Given the description of an element on the screen output the (x, y) to click on. 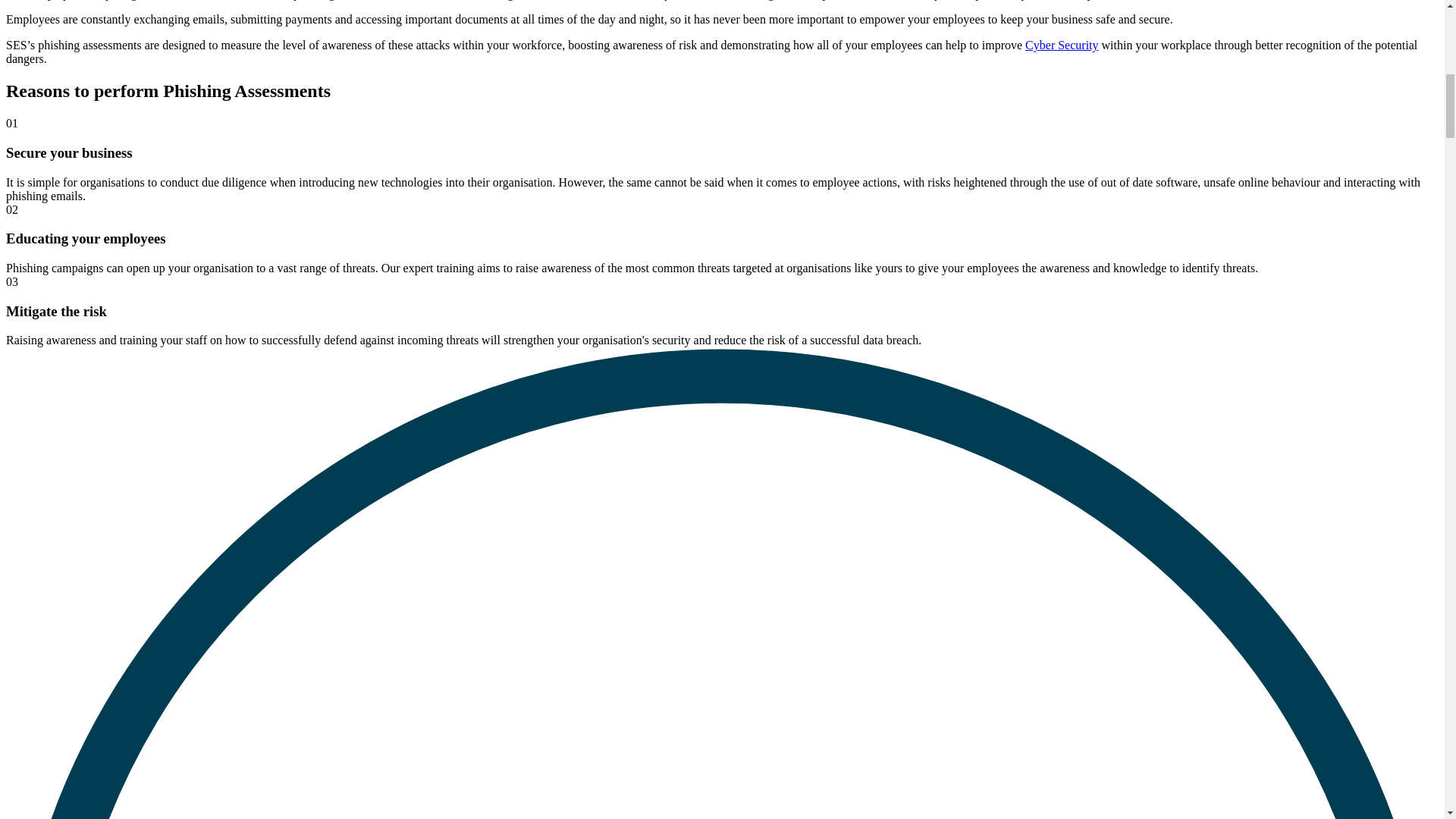
Cyber Security (1061, 44)
